Given the description of an element on the screen output the (x, y) to click on. 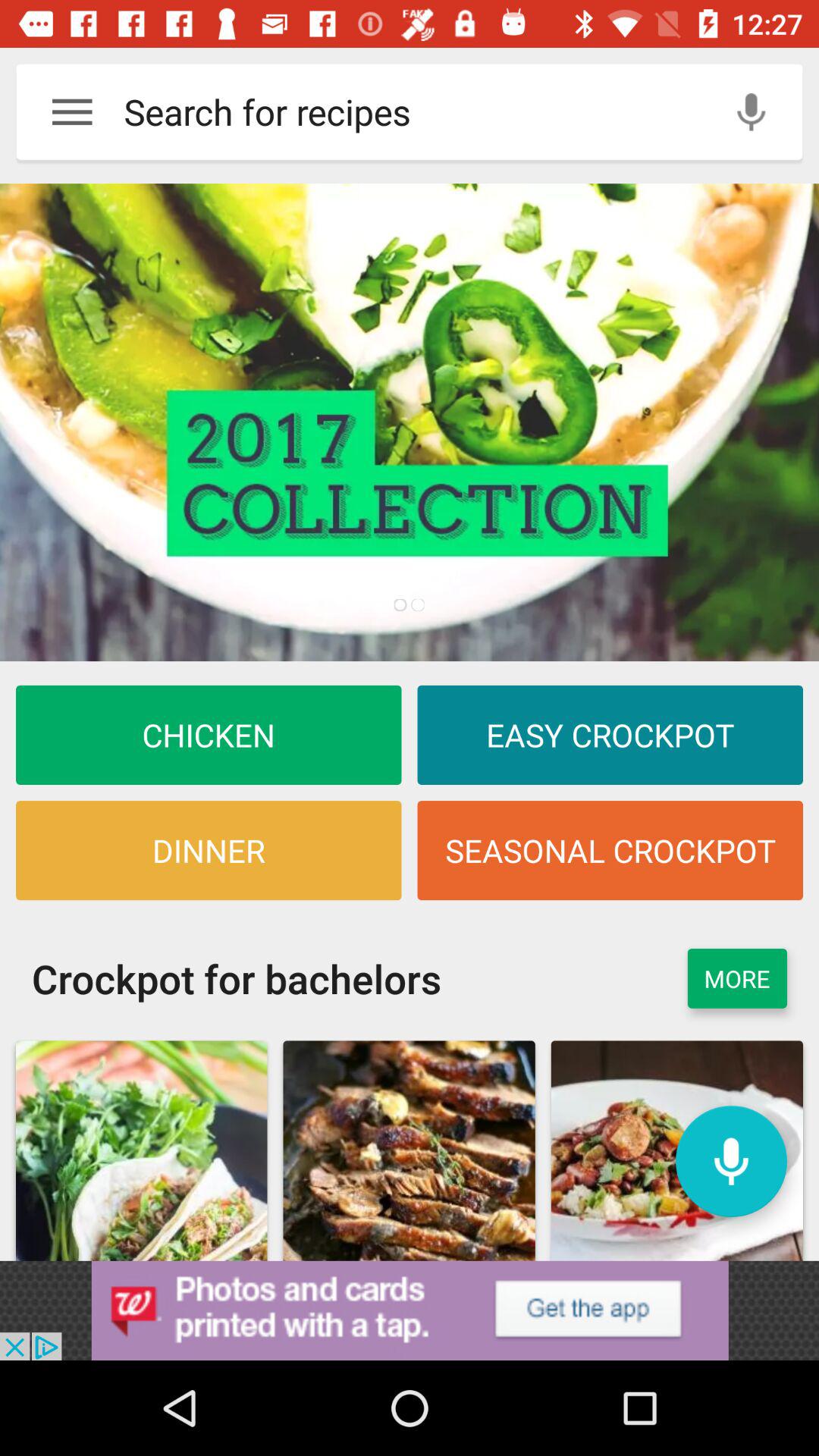
microphone (731, 1161)
